Given the description of an element on the screen output the (x, y) to click on. 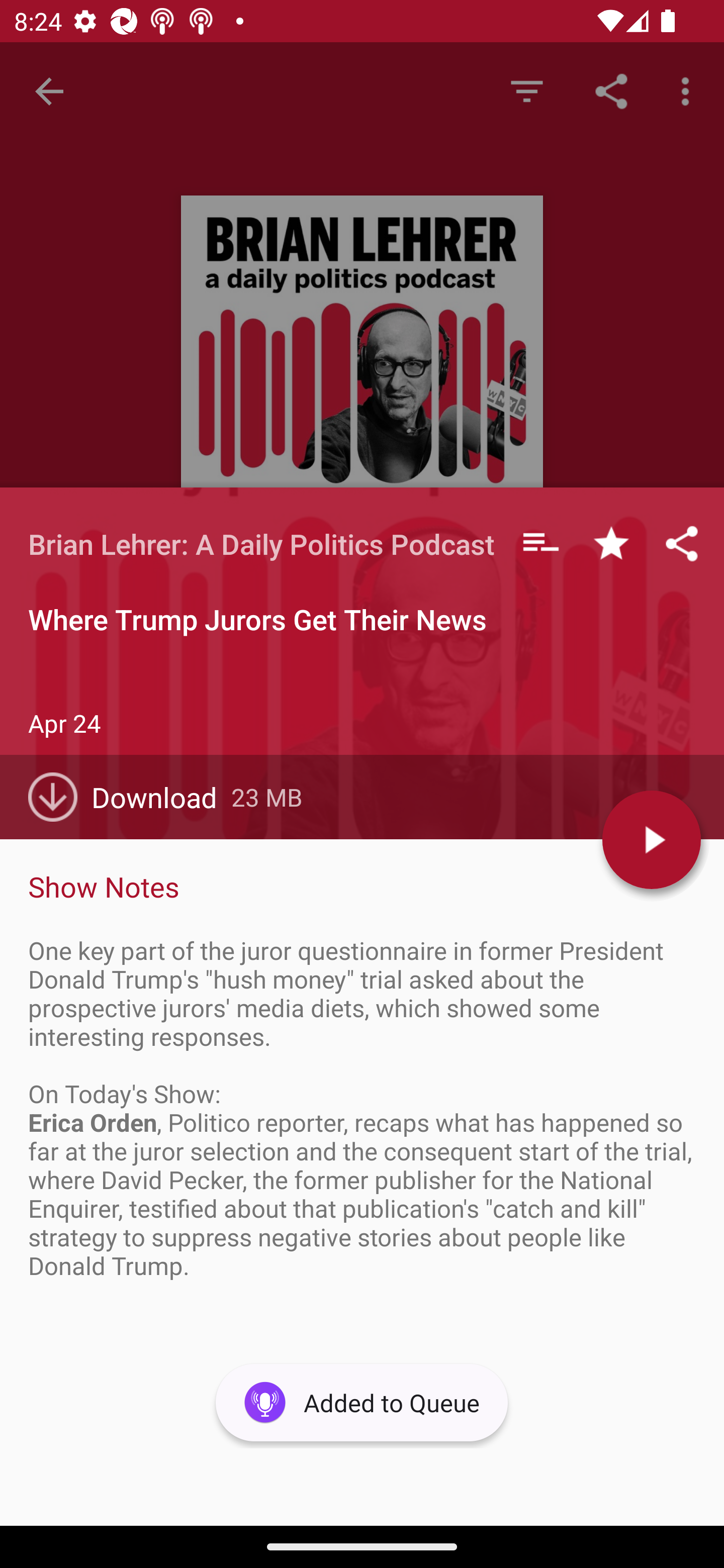
Download (129, 797)
